Given the description of an element on the screen output the (x, y) to click on. 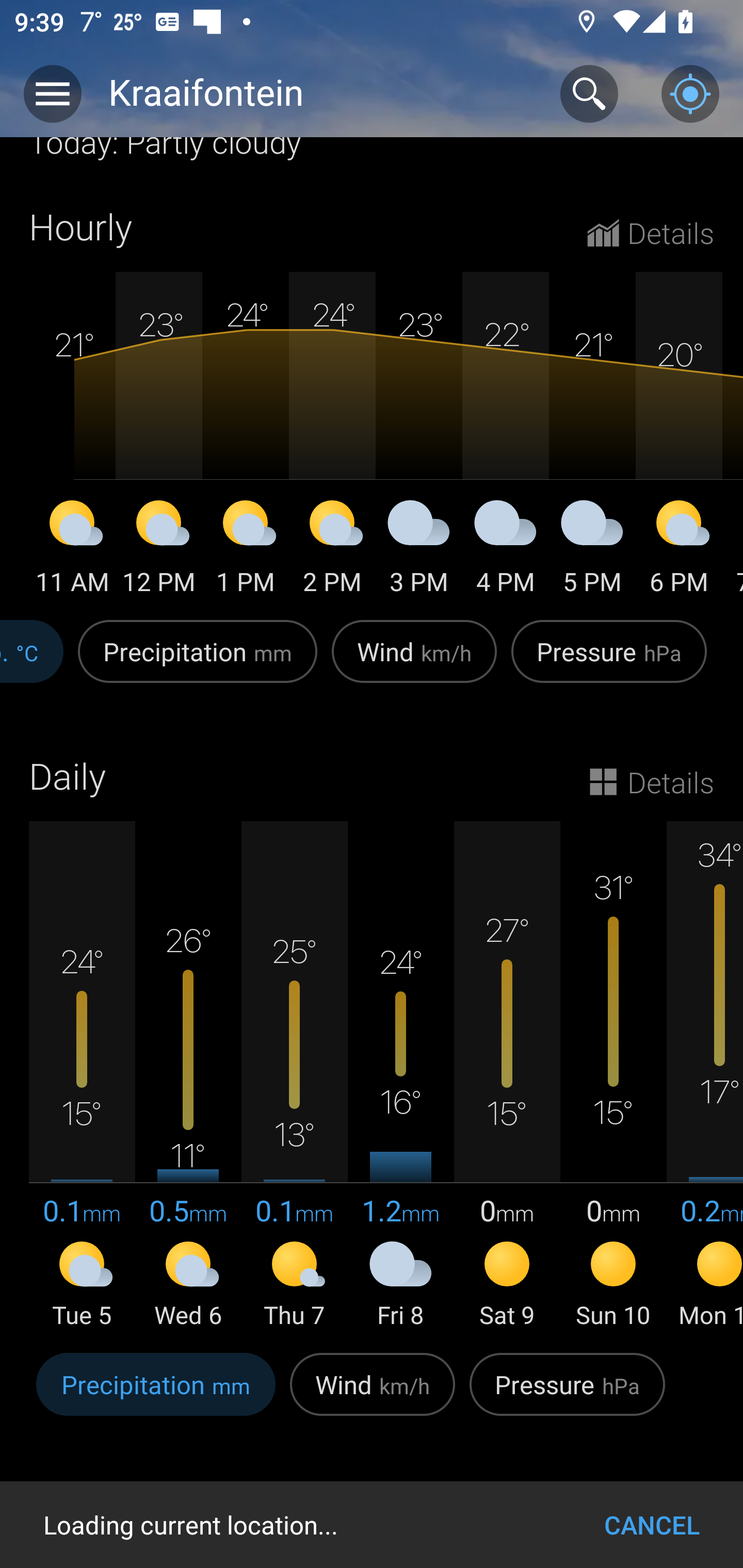
11 AM (71, 551)
12 PM (158, 551)
1 PM (245, 551)
2 PM (332, 551)
3 PM (418, 551)
4 PM (505, 551)
5 PM (592, 551)
6 PM (679, 551)
Precipitation mm (197, 662)
Wind km/h (413, 662)
Pressure hPa (608, 662)
24° 15° 0.1 mm Tue 5 (81, 1076)
26° 11° 0.5 mm Wed 6 (188, 1076)
25° 13° 0.1 mm Thu 7 (294, 1076)
24° 16° 1.2 mm Fri 8 (400, 1076)
27° 15° 0 mm Sat 9 (506, 1076)
31° 15° 0 mm Sun 10 (613, 1076)
34° 17° 0.2 mm Mon 11 (704, 1076)
Precipitation mm (155, 1394)
Wind km/h (372, 1394)
Pressure hPa (567, 1394)
Loading current location... CANCEL (371, 1524)
CANCEL (651, 1524)
